Given the description of an element on the screen output the (x, y) to click on. 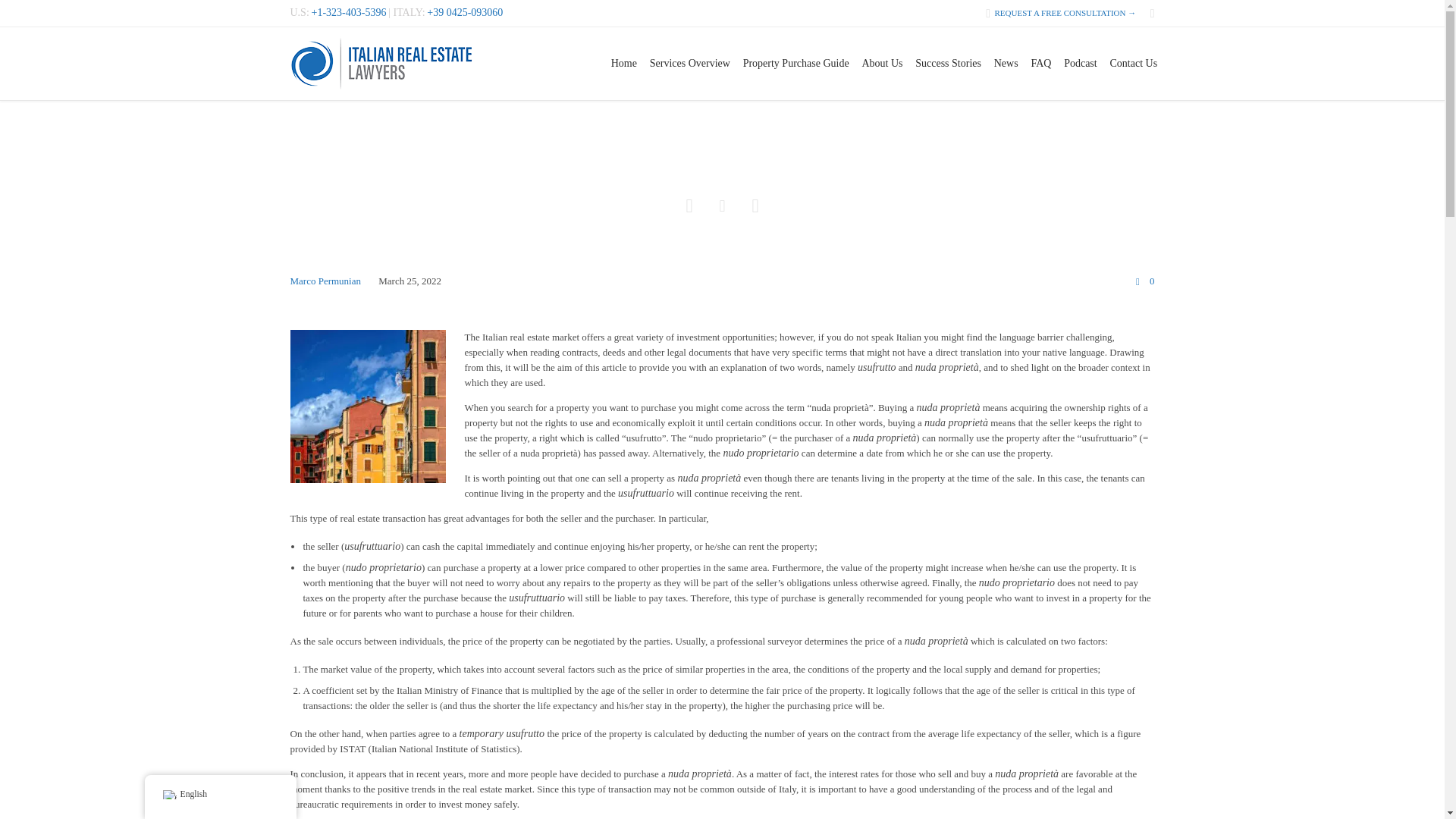
About Us (882, 63)
FAQ (1041, 63)
Podcast (1080, 63)
Contact Us (1133, 63)
Services Overview (689, 63)
News (1006, 63)
Home (623, 63)
Property Purchase Guide (796, 63)
Marco Permunian (325, 280)
